Given the description of an element on the screen output the (x, y) to click on. 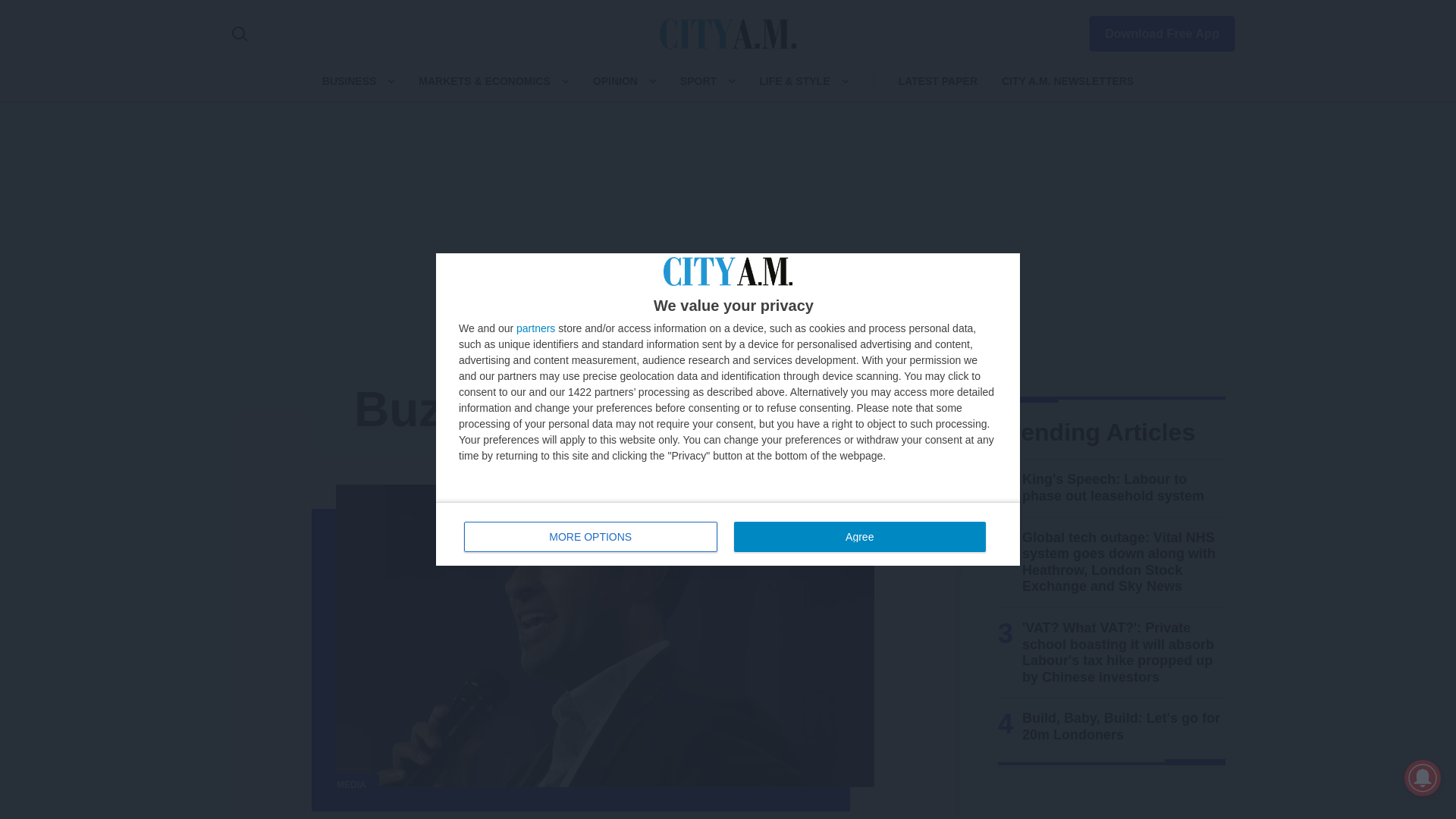
BUSINESS (349, 80)
CityAM (727, 33)
Download Free App (1152, 30)
partners (727, 533)
Agree (535, 327)
MORE OPTIONS (859, 536)
